Given the description of an element on the screen output the (x, y) to click on. 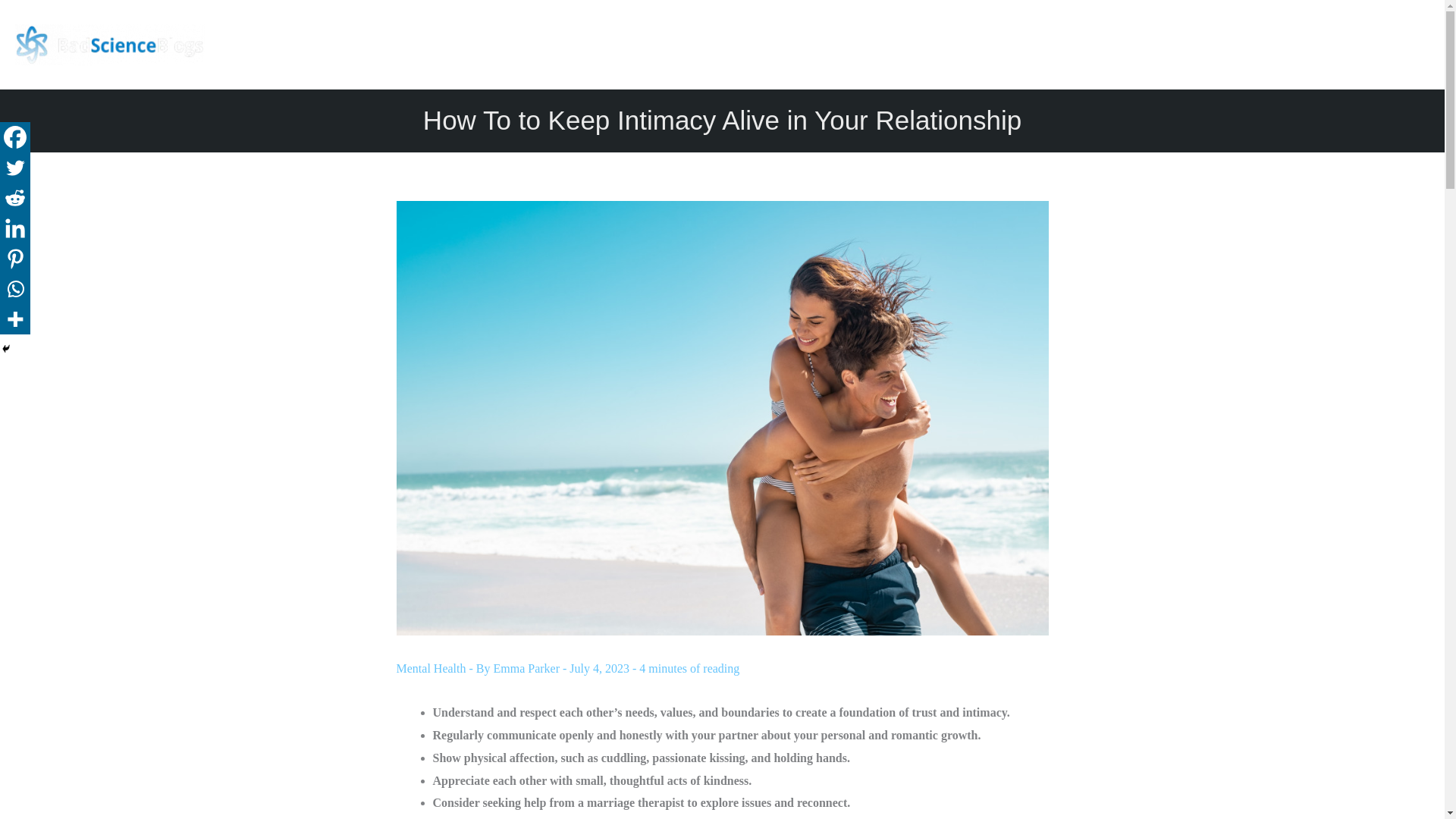
Whatsapp (15, 288)
Twitter (15, 167)
Mental Health (1104, 44)
Hide (5, 348)
Nutrition (1255, 44)
More (15, 318)
The Environment (1344, 44)
Reddit (15, 197)
View all posts by Emma Parker (527, 667)
Mental Health (430, 667)
Linkedin (15, 227)
Pinterest (15, 258)
Emma Parker (527, 667)
Medicine (1186, 44)
Facebook (15, 137)
